Given the description of an element on the screen output the (x, y) to click on. 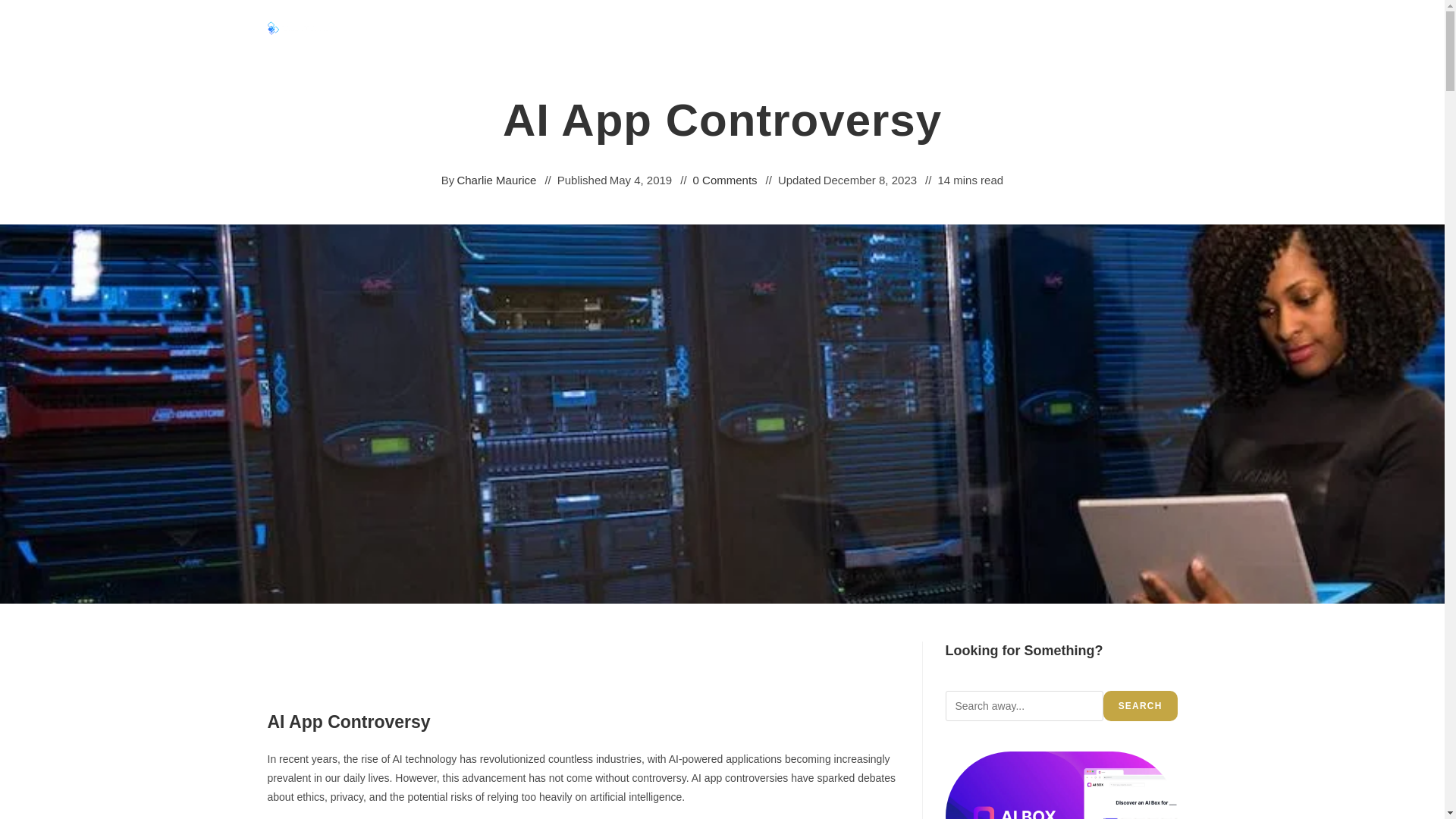
0 Comments (725, 179)
SEARCH (1140, 706)
Charlie Maurice (496, 179)
